Given the description of an element on the screen output the (x, y) to click on. 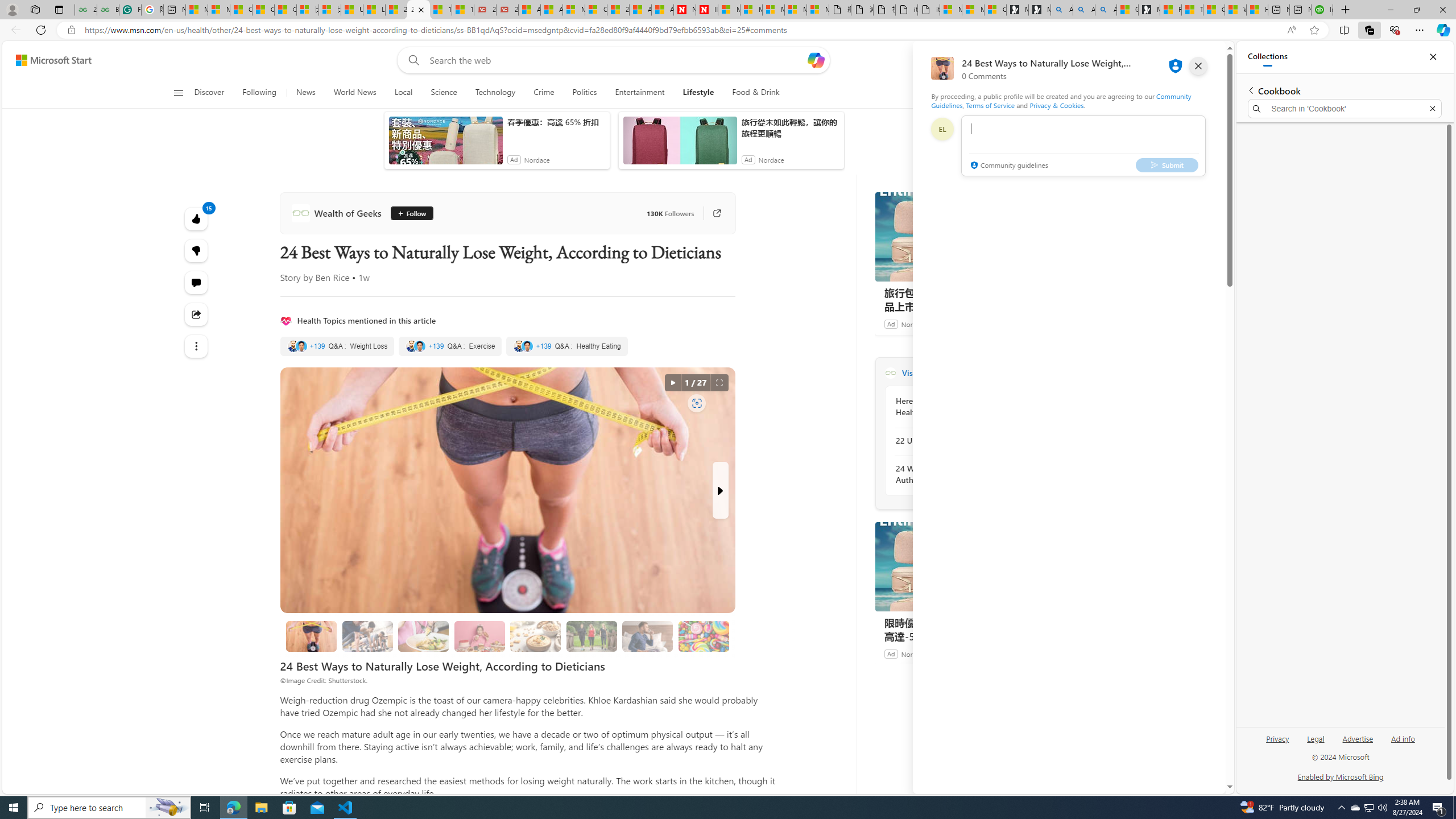
4. Soluble Fiber Is Your Friend (534, 636)
24 Ways Phones Are Destroying Authentic Relationships (957, 474)
Cherries Help You Recover From Workouts (367, 636)
autorotate button (672, 382)
Alabama high school quarterback dies - Search Videos (1105, 9)
Profile Picture (941, 128)
